Given the description of an element on the screen output the (x, y) to click on. 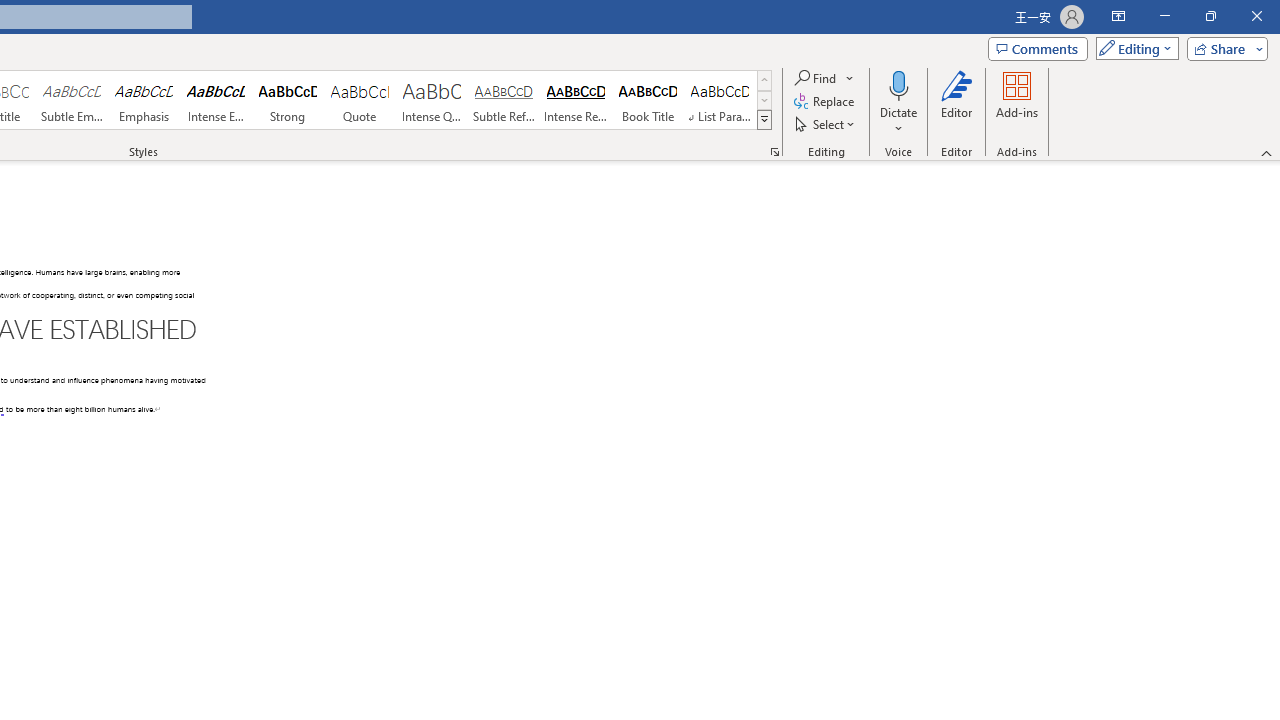
Subtle Reference (504, 100)
Row Down (763, 100)
Quote (359, 100)
Styles (763, 120)
Replace... (826, 101)
Row up (763, 79)
Strong (287, 100)
Subtle Emphasis (71, 100)
Intense Emphasis (216, 100)
Select (826, 124)
